Given the description of an element on the screen output the (x, y) to click on. 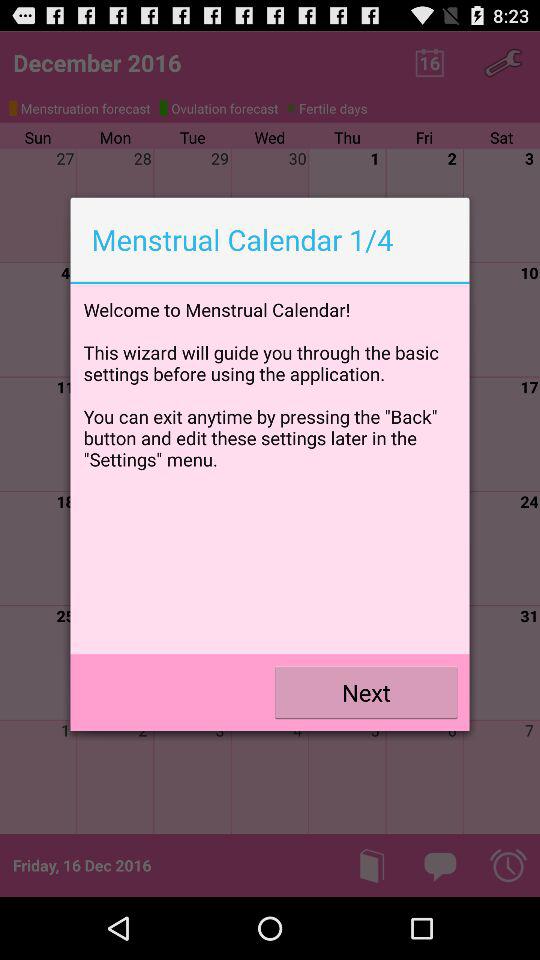
jump to the next icon (366, 692)
